Given the description of an element on the screen output the (x, y) to click on. 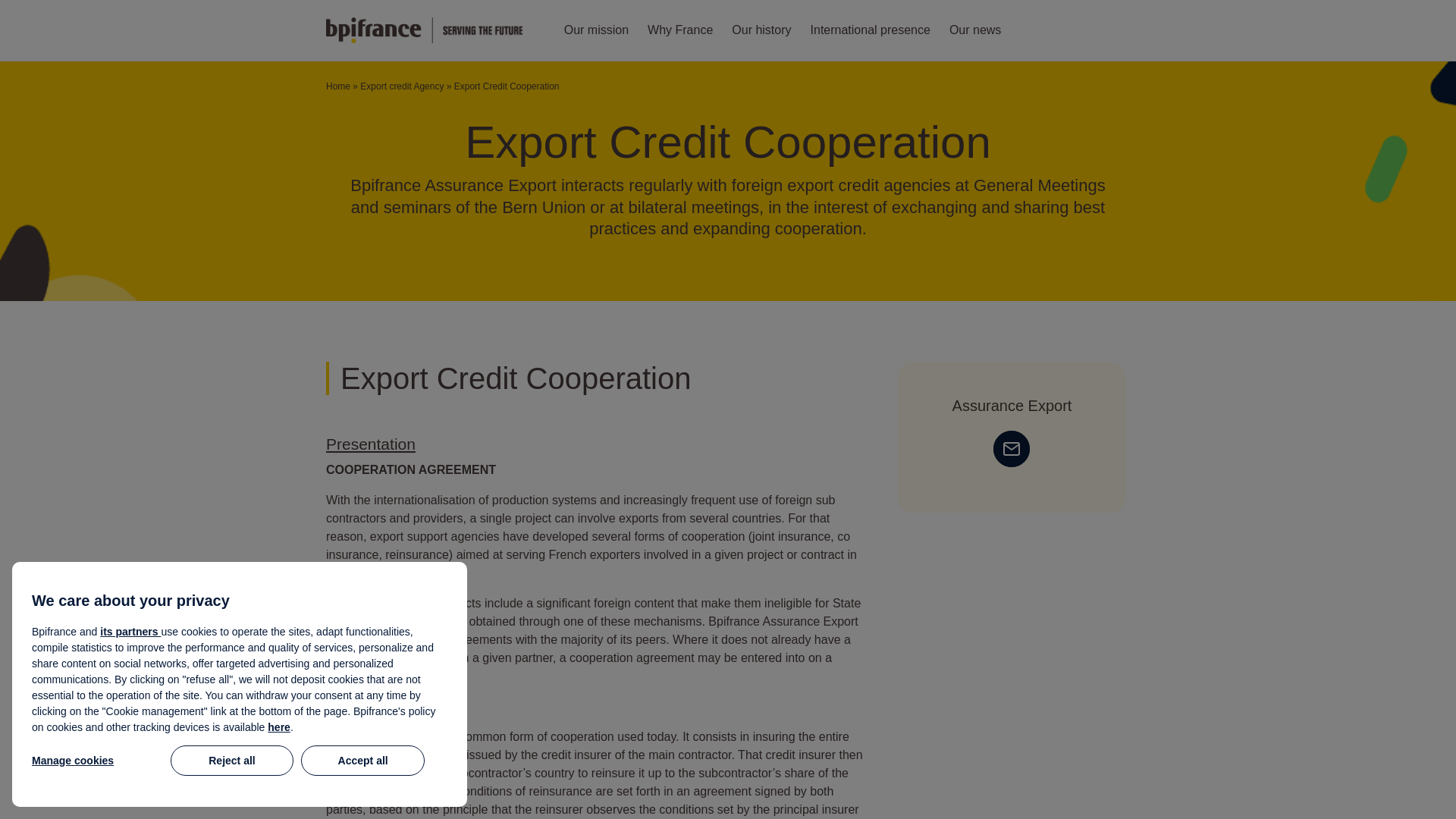
Manage cookies (97, 760)
Our news (975, 30)
Assurance Export (1011, 405)
Accept all (363, 760)
International presence (870, 30)
Why France (680, 30)
Export credit Agency (401, 86)
Reject all (232, 760)
Our history (760, 30)
Our mission (595, 30)
